Given the description of an element on the screen output the (x, y) to click on. 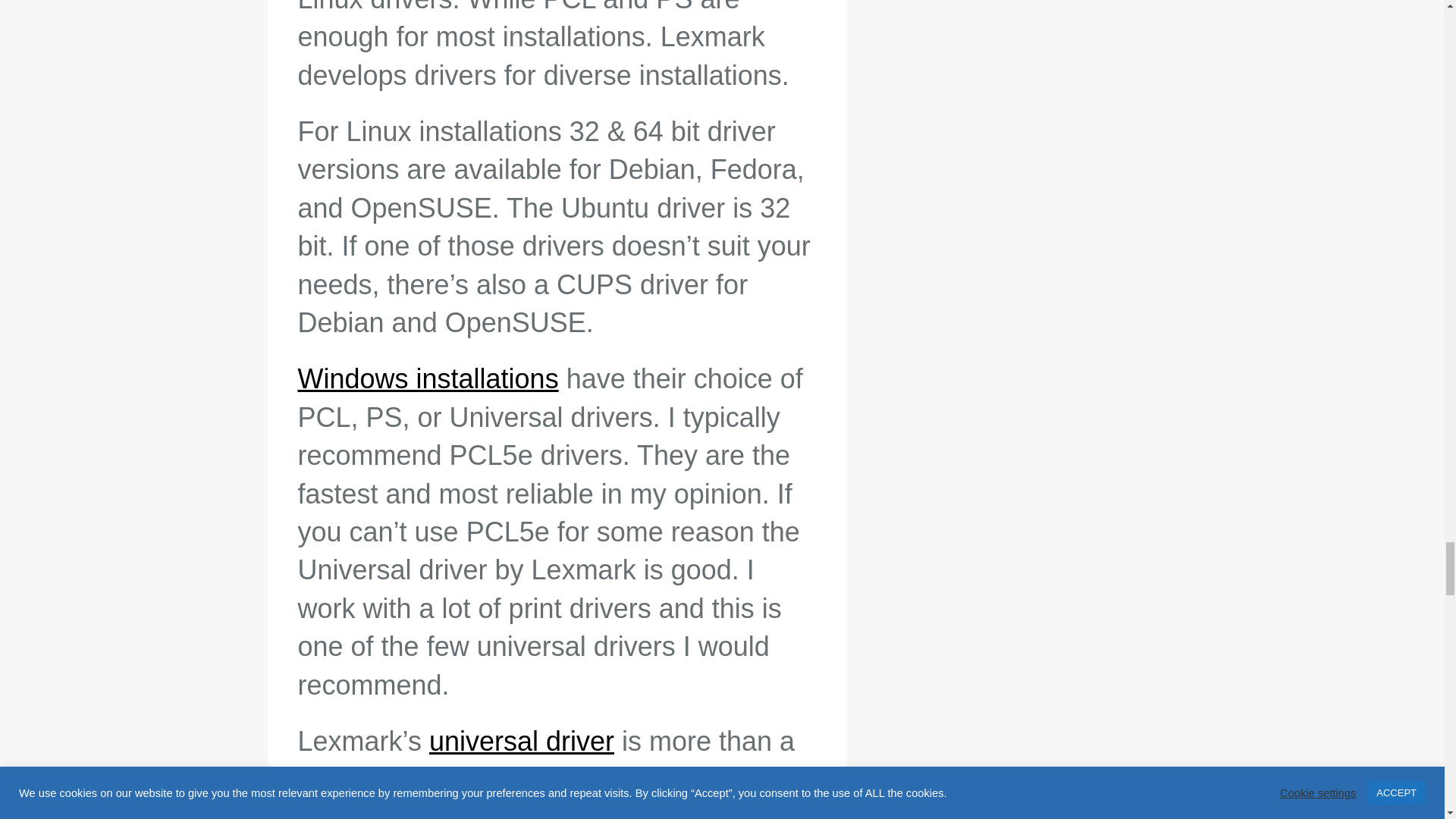
universal driver (521, 740)
Windows installations (427, 378)
